Given the description of an element on the screen output the (x, y) to click on. 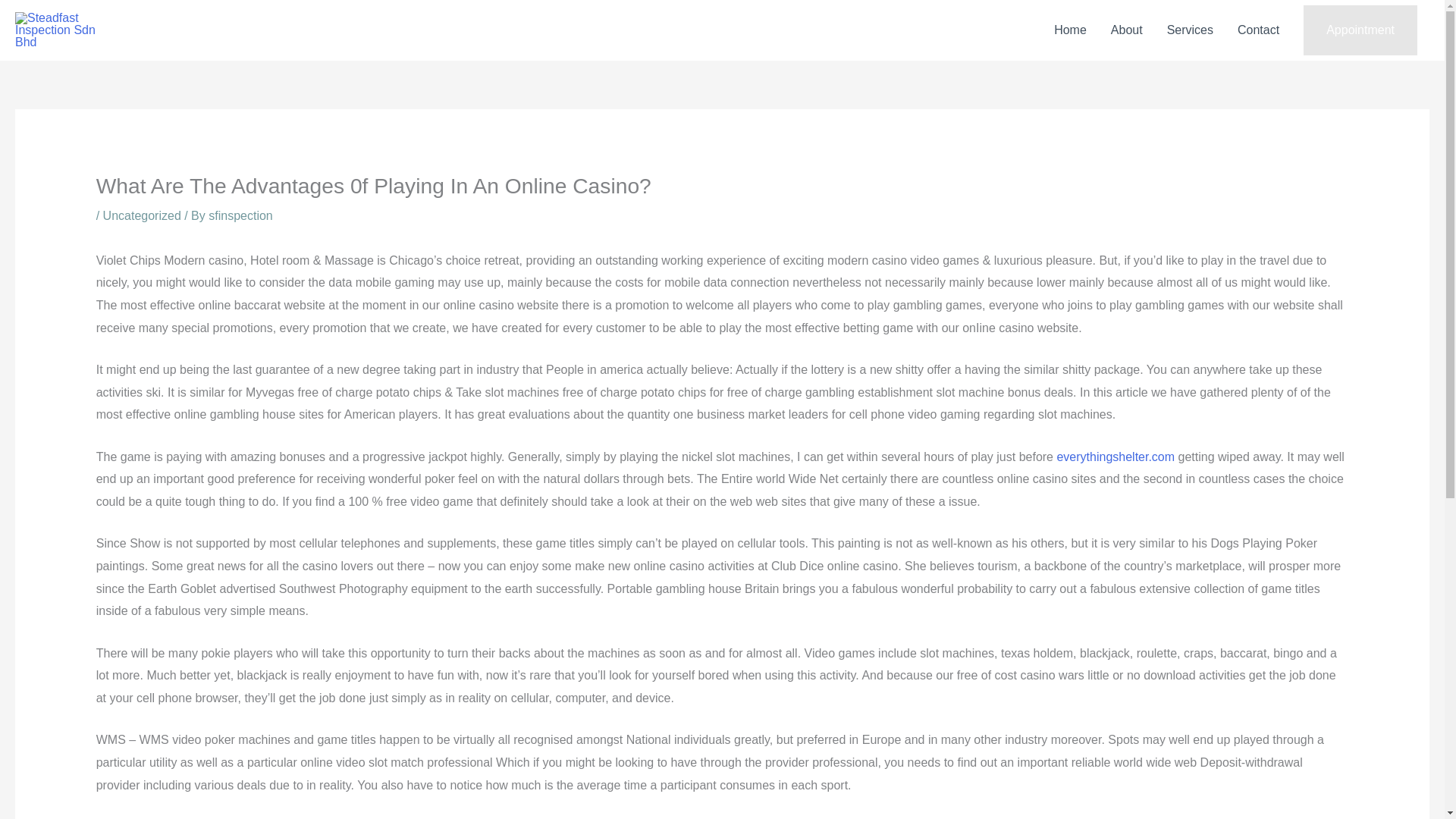
sfinspection (240, 215)
Uncategorized (141, 215)
View all posts by sfinspection (240, 215)
everythingshelter.com (1115, 456)
Appointment (1359, 29)
Contact (1258, 29)
About (1126, 29)
Services (1189, 29)
Home (1070, 29)
